Given the description of an element on the screen output the (x, y) to click on. 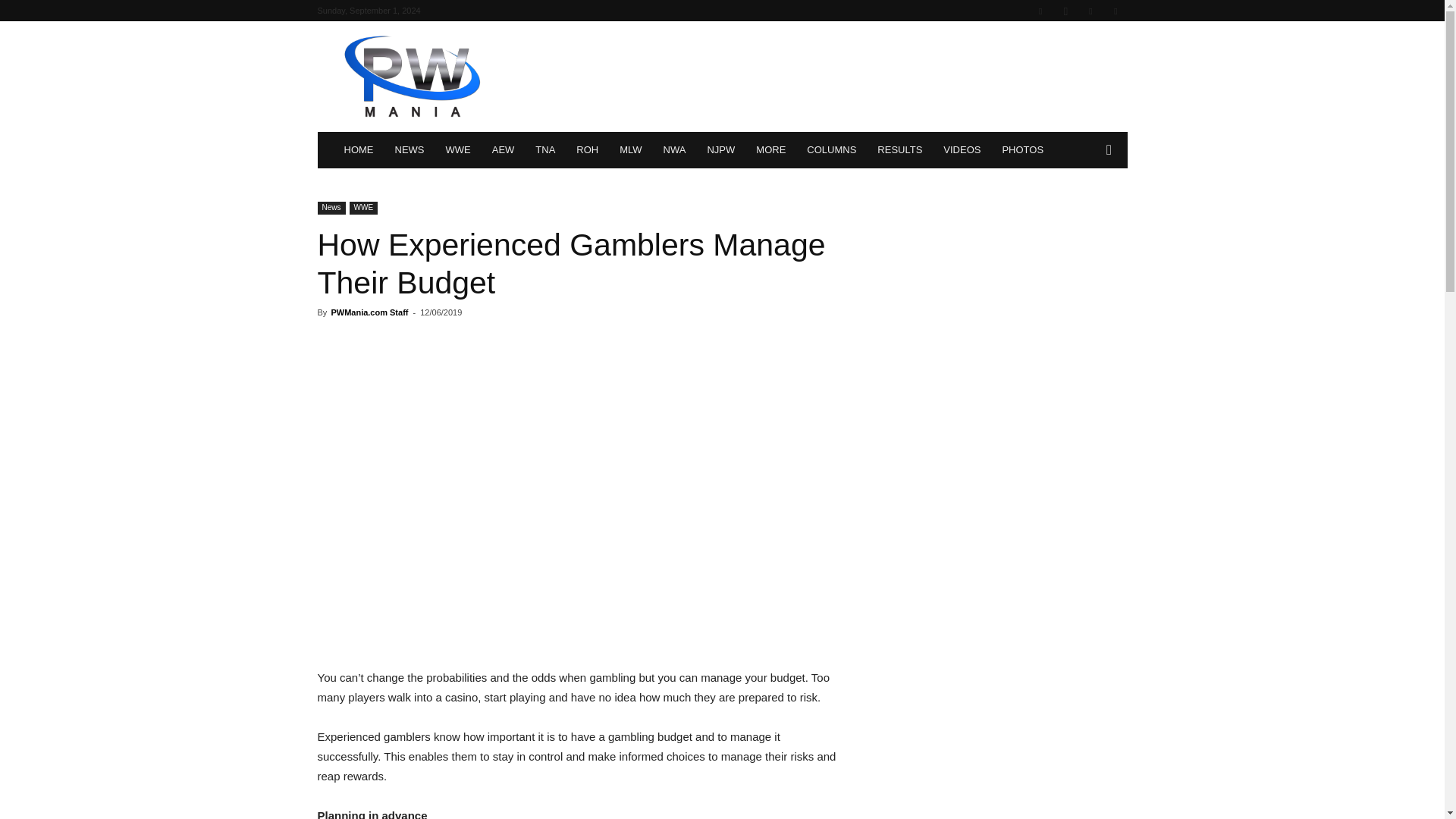
NEWS (408, 149)
Twitter (1090, 10)
HOME (358, 149)
MLW (630, 149)
AEW (503, 149)
Youtube (1114, 10)
Instagram (1065, 10)
WWE (458, 149)
Facebook (1040, 10)
